Given the description of an element on the screen output the (x, y) to click on. 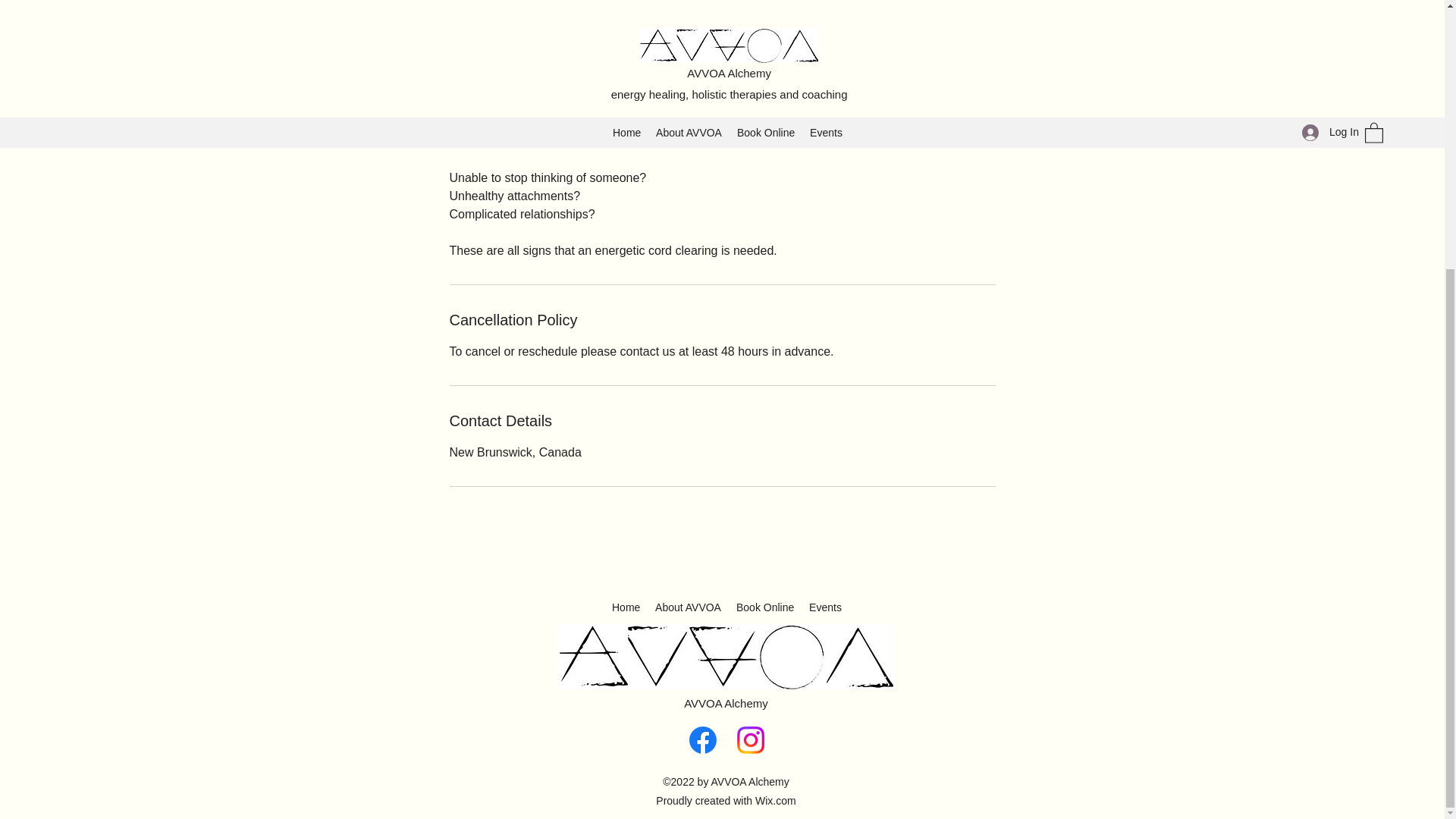
Book Now (498, 71)
Events (825, 607)
About AVVOA (688, 607)
Home (625, 607)
Book Online (765, 607)
